Given the description of an element on the screen output the (x, y) to click on. 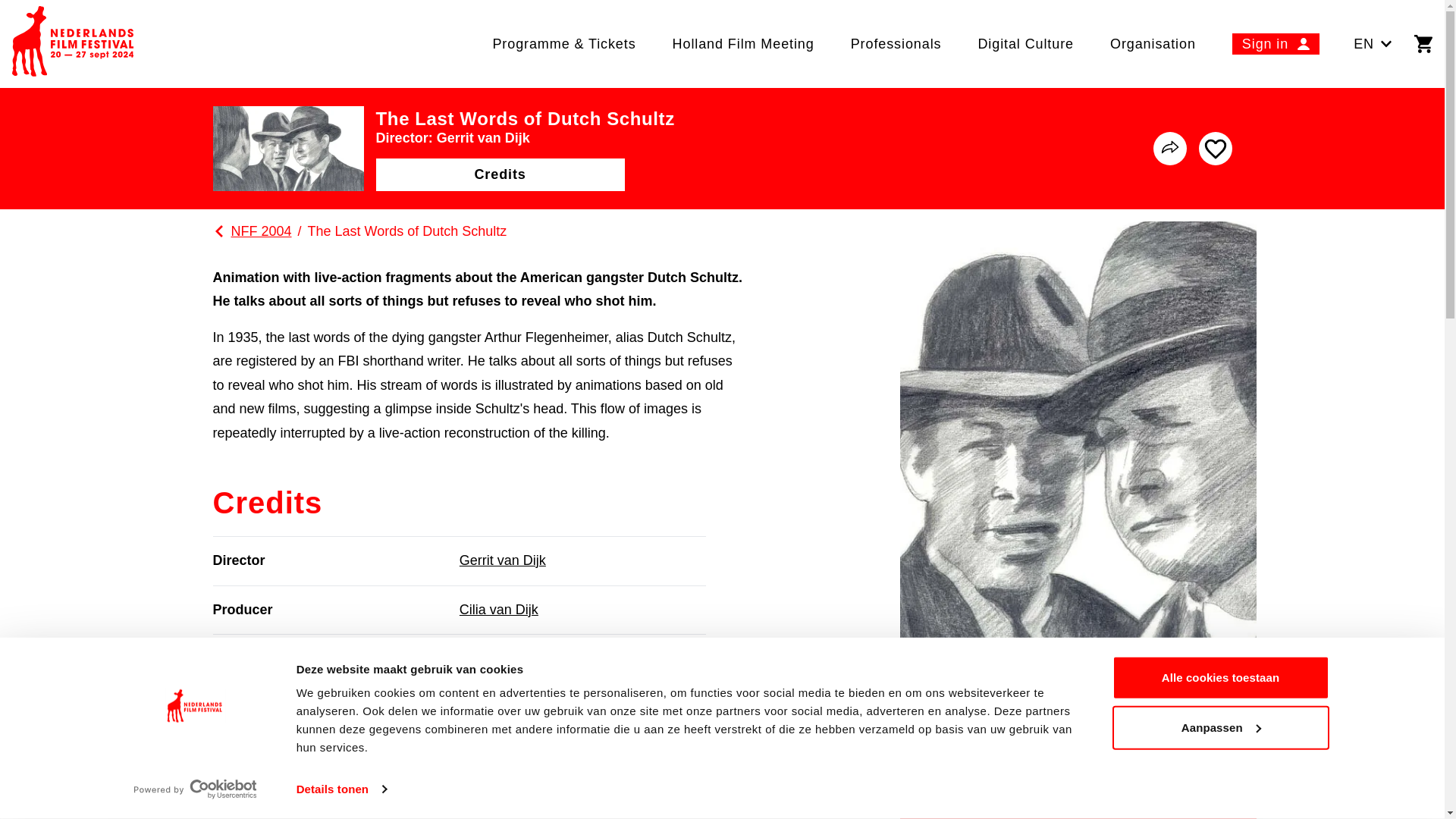
Visit the homepage (72, 43)
Digital Culture (1025, 43)
Details tonen (342, 789)
Holland Film Meeting (742, 43)
Organisation (1153, 43)
Credits (499, 174)
Professionals (895, 43)
